Given the description of an element on the screen output the (x, y) to click on. 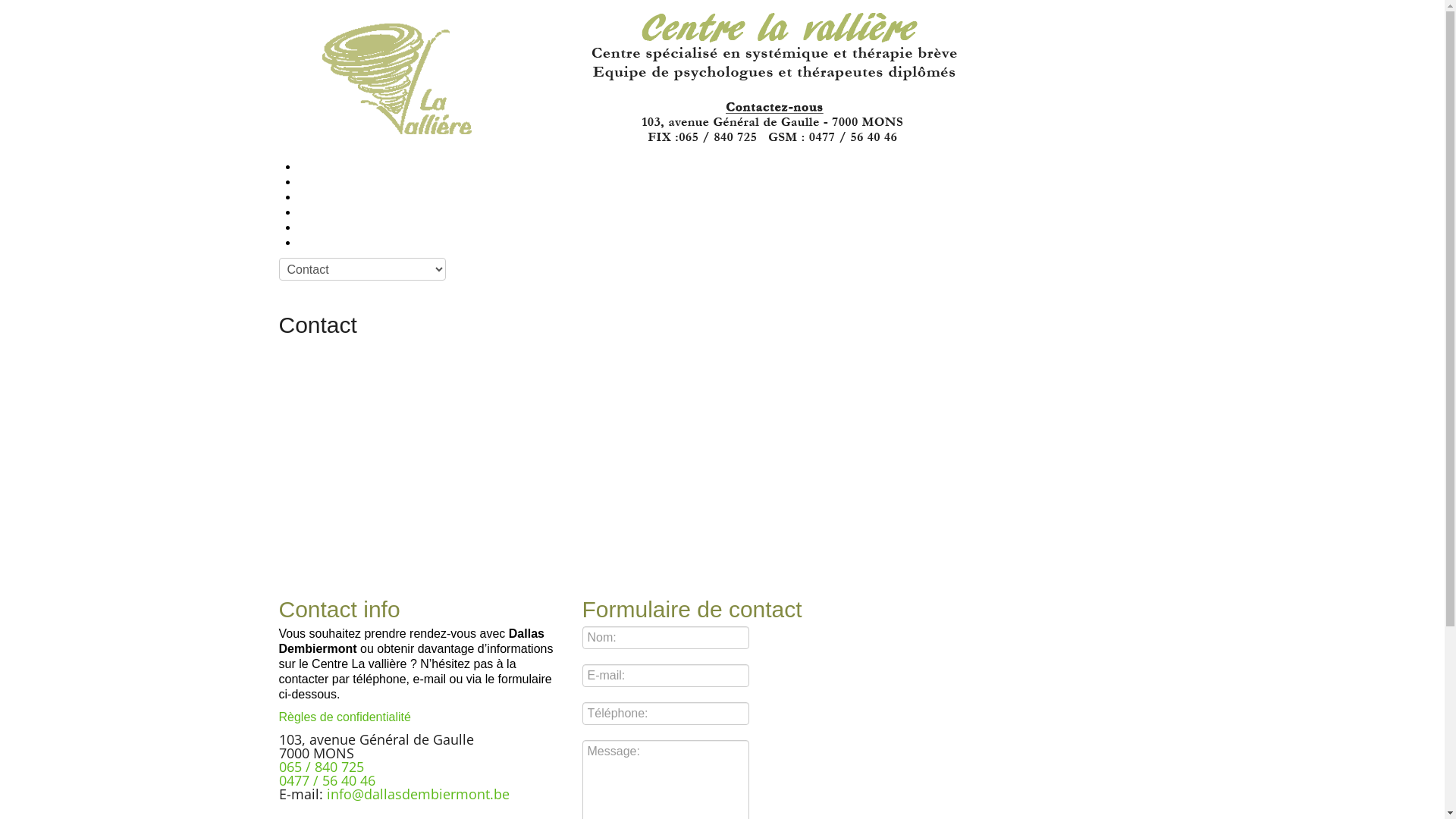
065 / 840 725 Element type: text (321, 766)
Accueil Element type: text (310, 166)
info@dallasdembiermont.be Element type: text (417, 793)
Equipe Element type: text (310, 197)
Contact Element type: text (312, 242)
0477 / 56 40 46 Element type: text (327, 780)
